Given the description of an element on the screen output the (x, y) to click on. 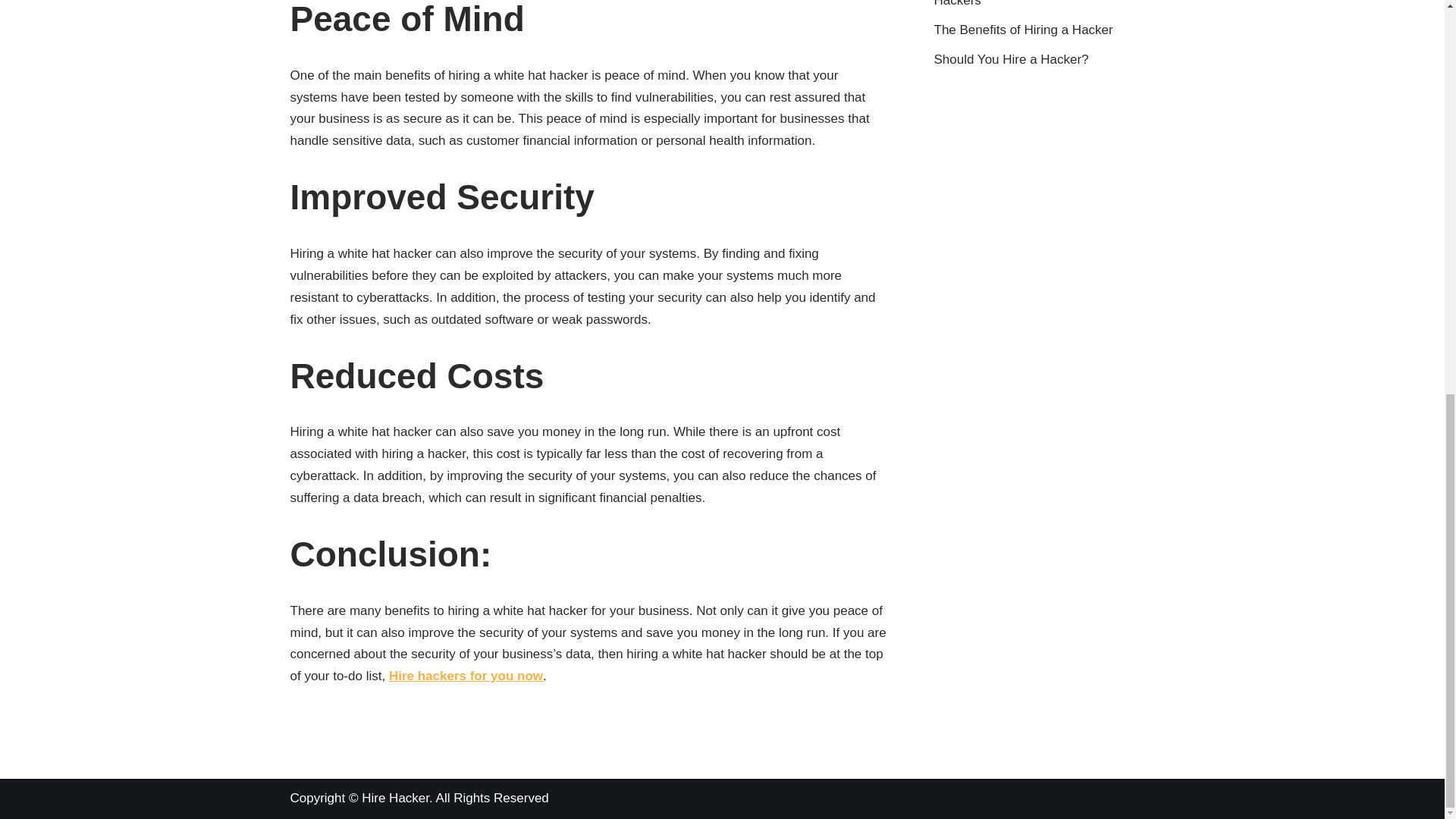
Hire hackers for you now (465, 676)
How to Protect Your Business from Hackers (1034, 3)
Should You Hire a Hacker? (1011, 59)
The Benefits of Hiring a Hacker (1023, 29)
